Given the description of an element on the screen output the (x, y) to click on. 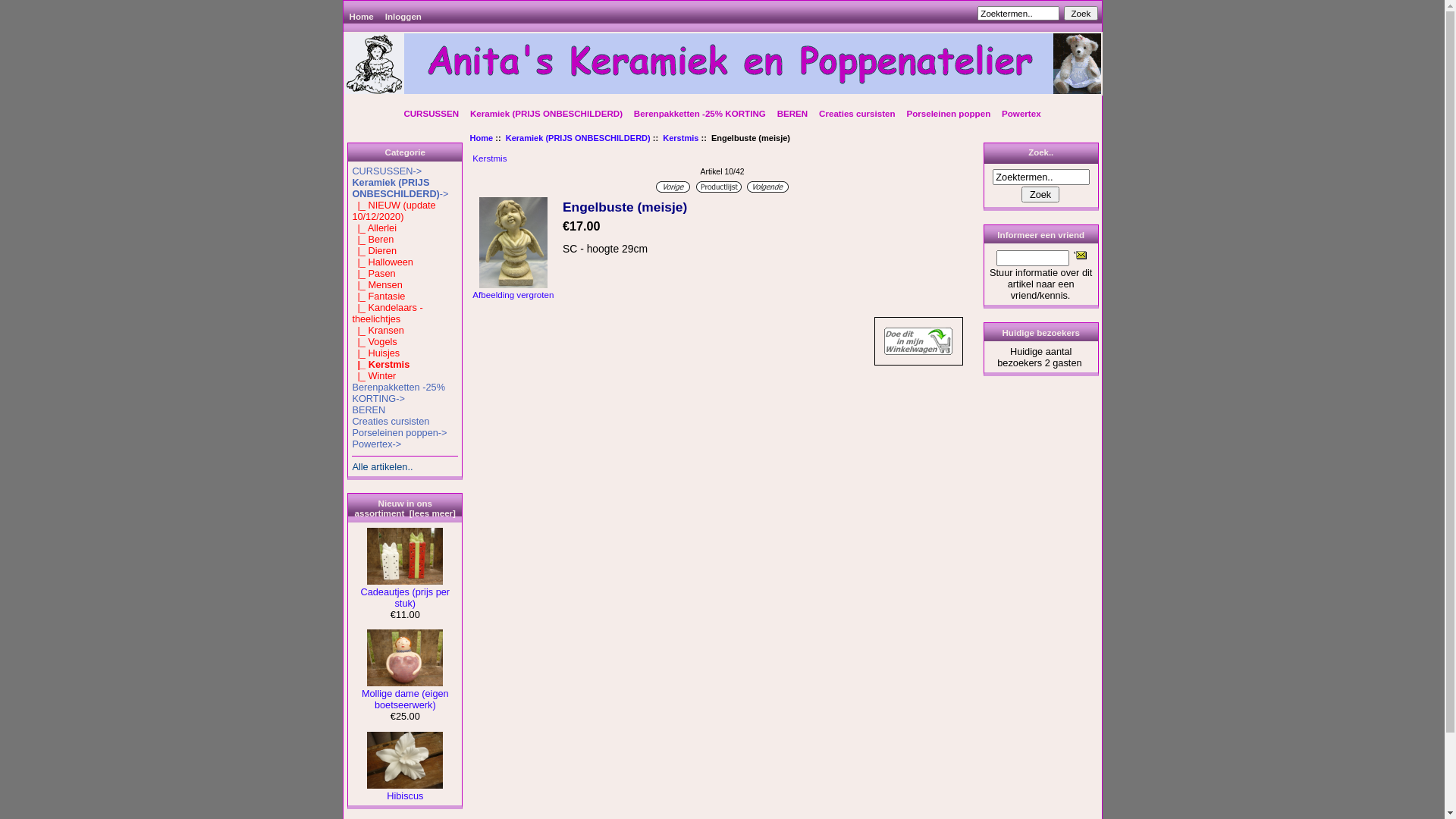
Hibiscus Element type: text (404, 791)
BEREN Element type: text (368, 409)
  |_ Fantasie Element type: text (377, 295)
Porseleinen poppen Element type: text (948, 113)
Mollige dame (eigen boetseerwerk) Element type: text (404, 694)
 Volgende  Element type: hover (767, 186)
  |_ NIEUW (update 10/12/2020) Element type: text (393, 210)
Keramiek (PRIJS ONBESCHILDERD) Element type: text (577, 137)
Nieuw in ons assortiment  [lees meer] Element type: text (404, 507)
  |_ Mensen Element type: text (376, 284)
Home Element type: text (361, 16)
  |_ Dieren Element type: text (373, 250)
Alle artikelen.. Element type: text (381, 466)
  |_ Halloween Element type: text (382, 261)
Creaties cursisten Element type: text (856, 113)
Kerstmis Element type: text (680, 137)
BEREN Element type: text (792, 113)
  |_ Kandelaars - theelichtjes Element type: text (386, 312)
Inloggen Element type: text (403, 16)
Home Element type: text (481, 137)
 Vertel een vriend  Element type: hover (1079, 254)
 Terug naar catalogus  Element type: hover (718, 186)
Berenpakketten -25% KORTING-> Element type: text (398, 392)
  |_ Beren Element type: text (372, 238)
  |_ Kerstmis Element type: text (380, 364)
  |_ Pasen Element type: text (373, 273)
Cadeautjes (prijs per stuk) Element type: text (404, 592)
  |_ Allerlei Element type: text (373, 227)
Keramiek (PRIJS ONBESCHILDERD) Element type: text (546, 113)
Powertex-> Element type: text (376, 443)
Kerstmis Element type: text (489, 158)
 Mollige dame (eigen boetseerwerk)  Element type: hover (404, 657)
  |_ Huisjes Element type: text (375, 352)
  |_ Vogels Element type: text (373, 341)
Afbeelding vergroten Element type: text (512, 290)
  |_ Kransen Element type: text (377, 329)
  |_ Winter Element type: text (373, 375)
Zoek Element type: text (1040, 194)
 Cadeautjes (prijs per stuk)  Element type: hover (404, 556)
 Poppenatelier  Element type: hover (721, 63)
 Hibiscus  Element type: hover (404, 760)
Berenpakketten -25% KORTING Element type: text (699, 113)
CURSUSSEN-> Element type: text (386, 170)
Porseleinen poppen-> Element type: text (398, 432)
Powertex Element type: text (1020, 113)
CURSUSSEN Element type: text (431, 113)
Keramiek (PRIJS ONBESCHILDERD)-> Element type: text (399, 187)
 Toevoegen  Element type: hover (918, 340)
Creaties cursisten Element type: text (390, 420)
 Engelbuste (meisje)  Element type: hover (513, 242)
 Vorige  Element type: hover (672, 186)
Zoek Element type: text (1080, 13)
